Given the description of an element on the screen output the (x, y) to click on. 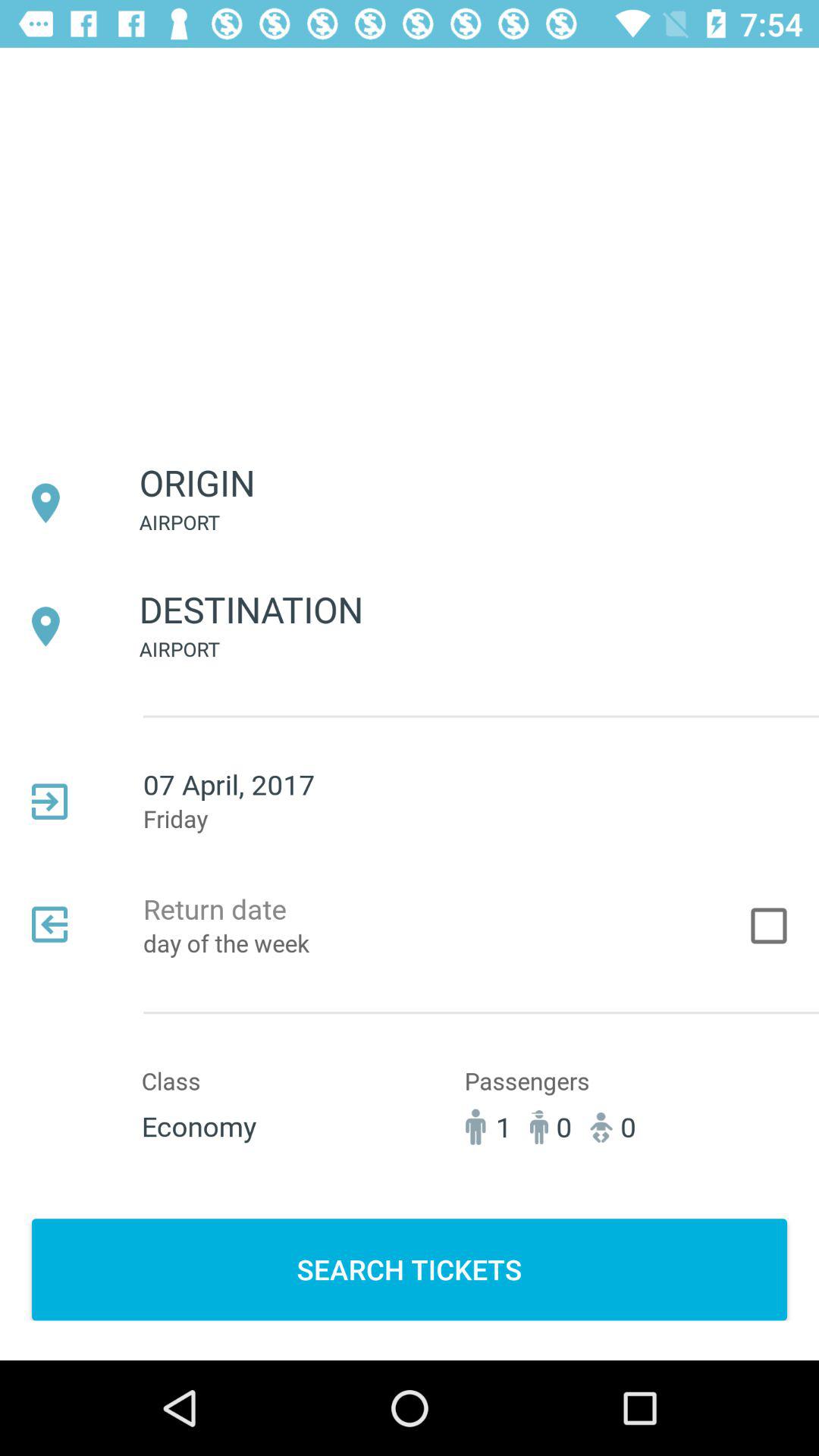
press item below 1 icon (409, 1269)
